Given the description of an element on the screen output the (x, y) to click on. 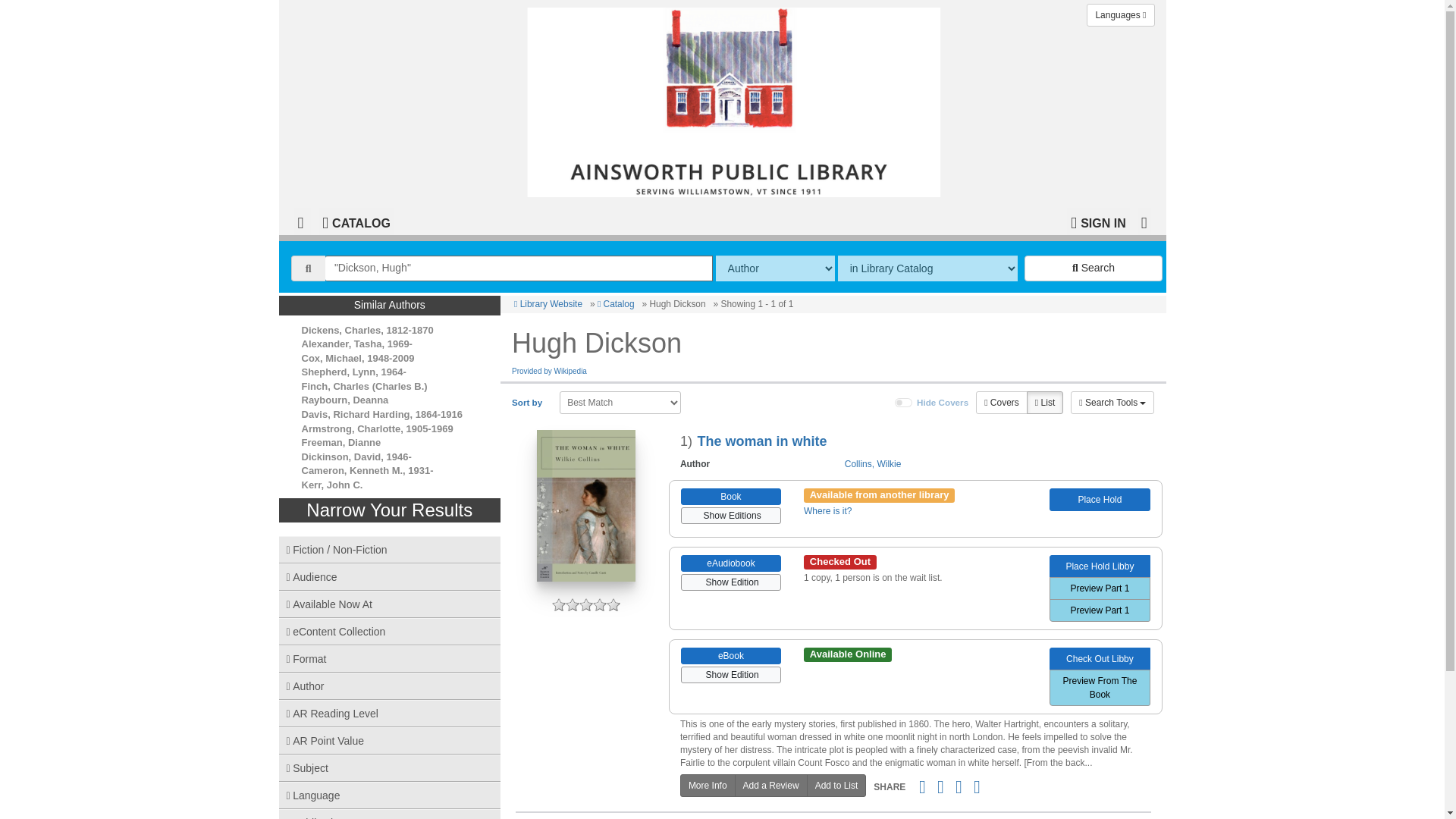
Dickens, Charles, 1812-1870 (367, 329)
Languages  (1120, 15)
Dickinson, David, 1946- (356, 456)
Kerr, John C. (331, 484)
Browse the Catalog (356, 221)
Cox, Michael, 1948-2009 (357, 357)
 Search (1093, 268)
SIGN IN (1098, 221)
Freeman, Dianne (341, 441)
Shepherd, Lynn, 1964- (353, 371)
